Given the description of an element on the screen output the (x, y) to click on. 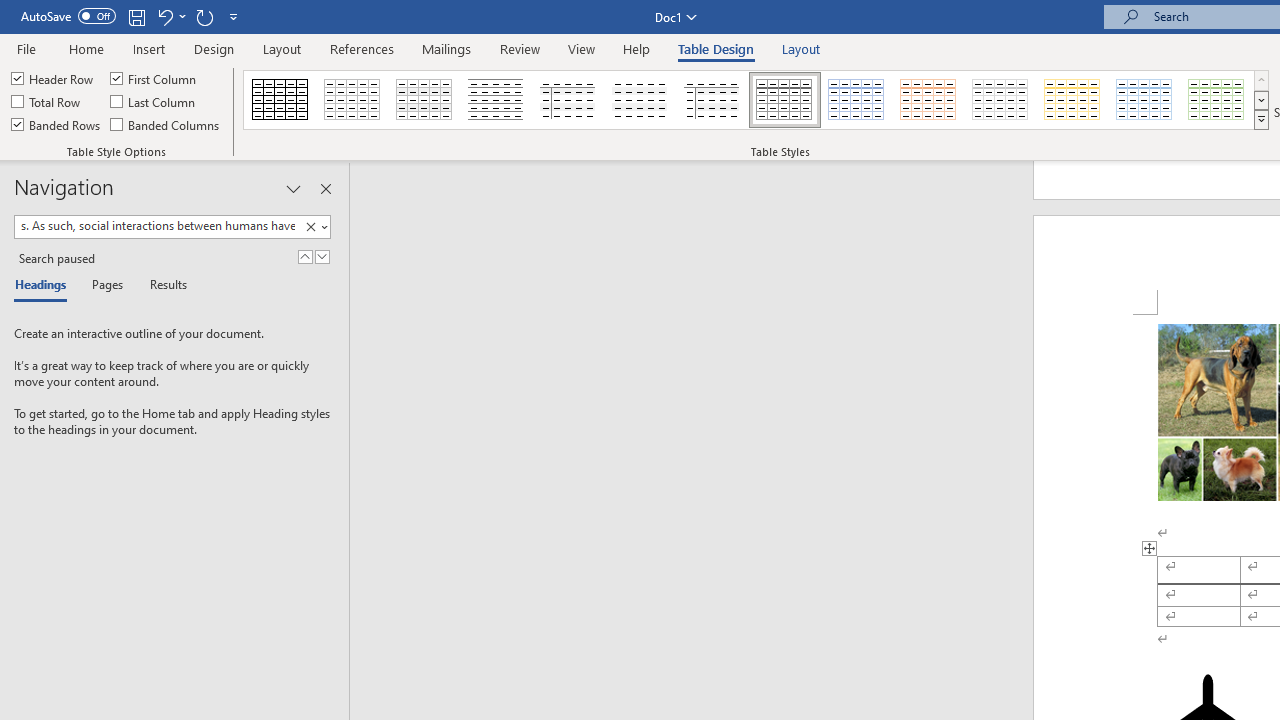
Previous Result (304, 256)
Grid Table 1 Light - Accent 2 (929, 100)
Row up (1261, 79)
Row Down (1261, 100)
Table Grid (280, 100)
Table Design (715, 48)
Search document (157, 226)
First Column (155, 78)
